Given the description of an element on the screen output the (x, y) to click on. 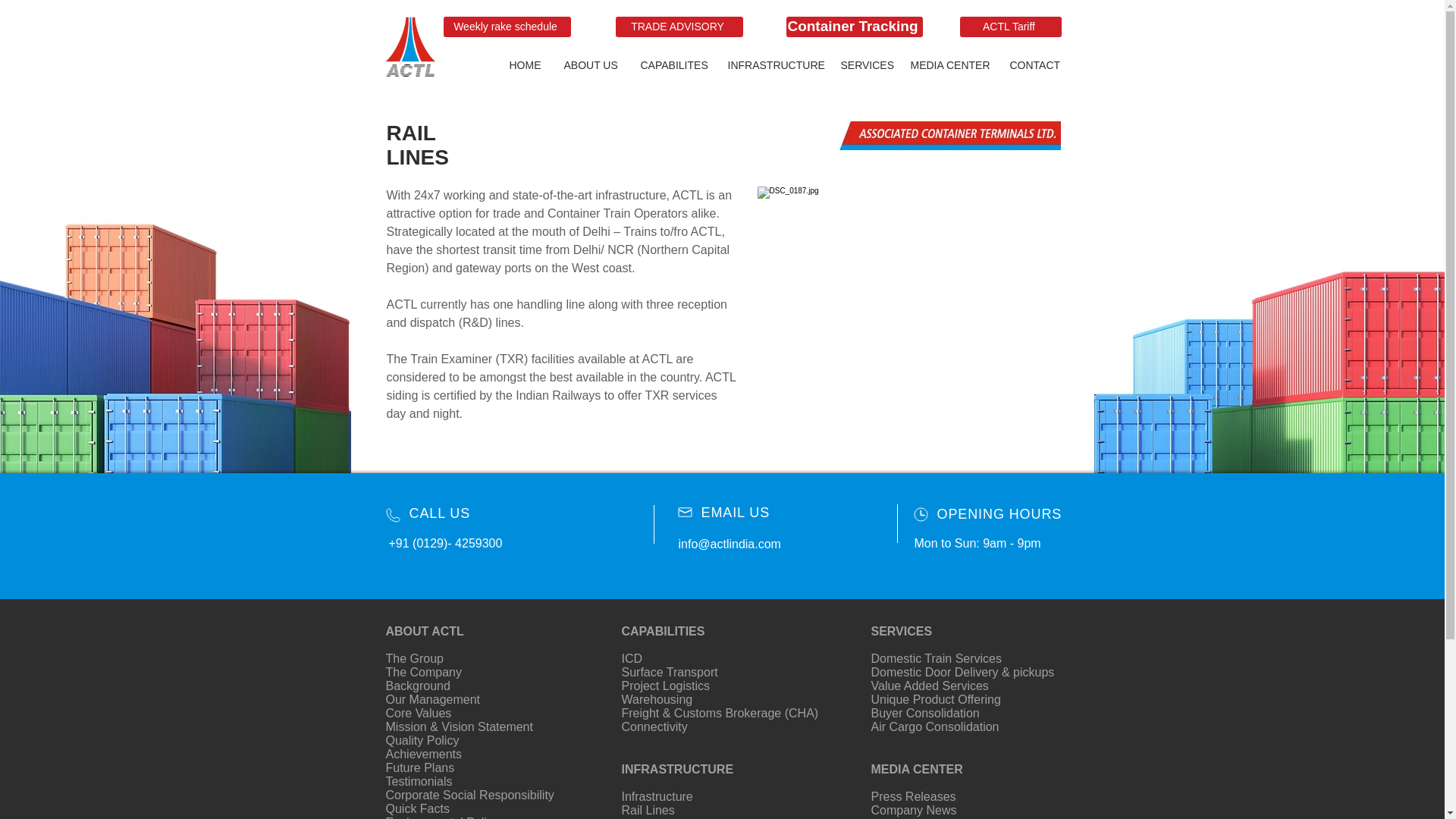
Container Tracking (853, 26)
Weekly rake schedule (506, 26)
ACTL Tariff (1010, 26)
HOME (524, 64)
TRADE ADVISORY (678, 26)
